Given the description of an element on the screen output the (x, y) to click on. 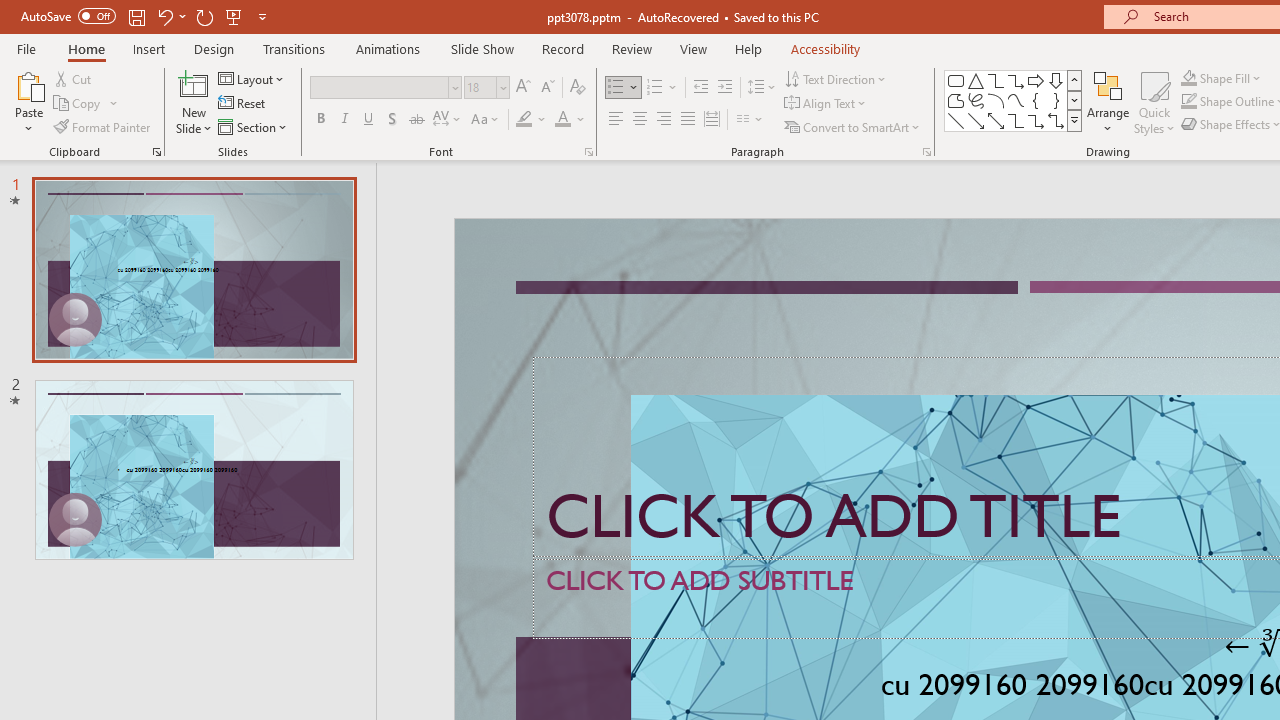
Shape Outline Green, Accent 1 (1188, 101)
